Given the description of an element on the screen output the (x, y) to click on. 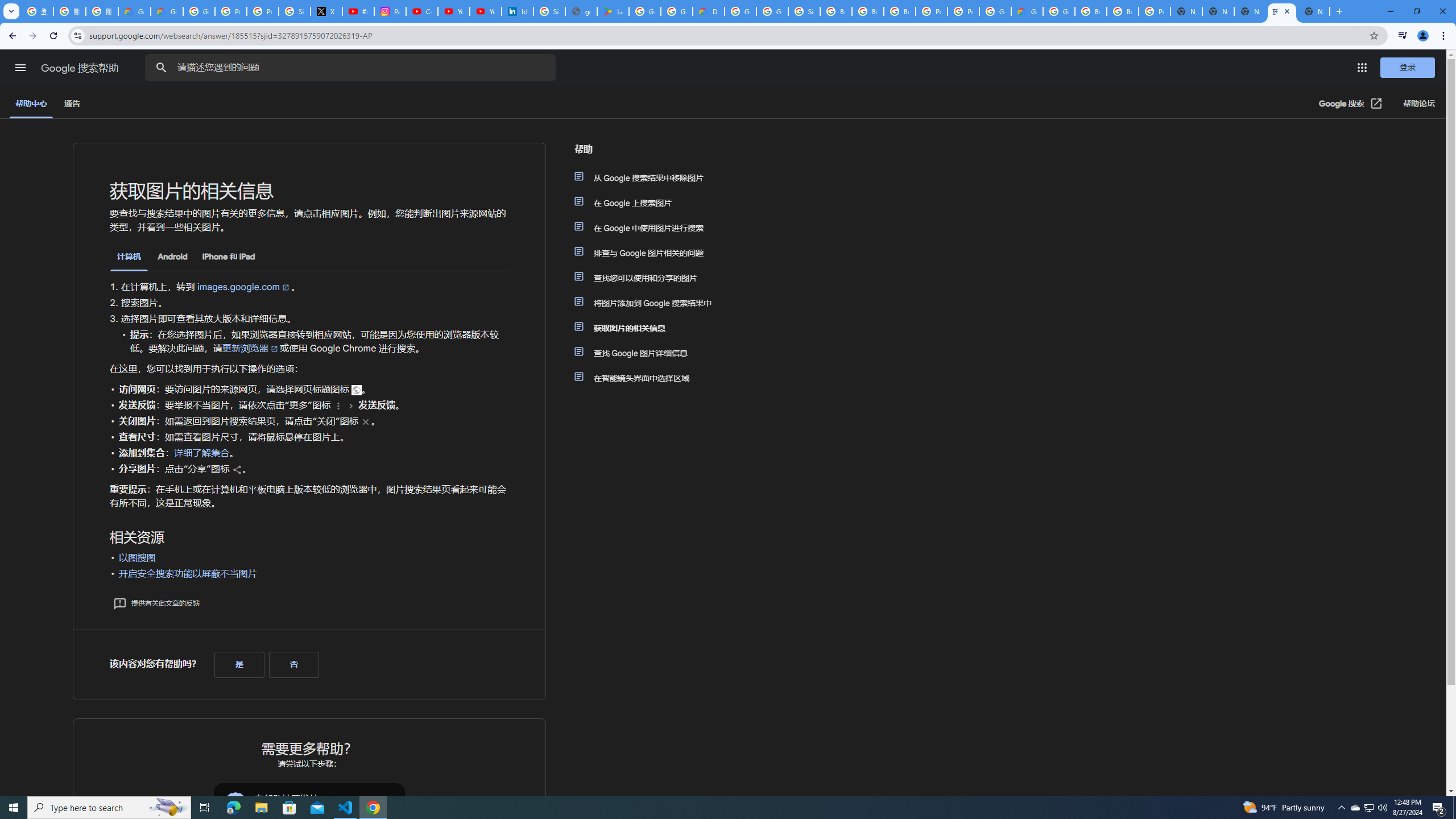
Google Workspace - Specific Terms (676, 11)
New Tab (1185, 11)
X (326, 11)
YouTube Culture & Trends - YouTube Top 10, 2021 (485, 11)
